Given the description of an element on the screen output the (x, y) to click on. 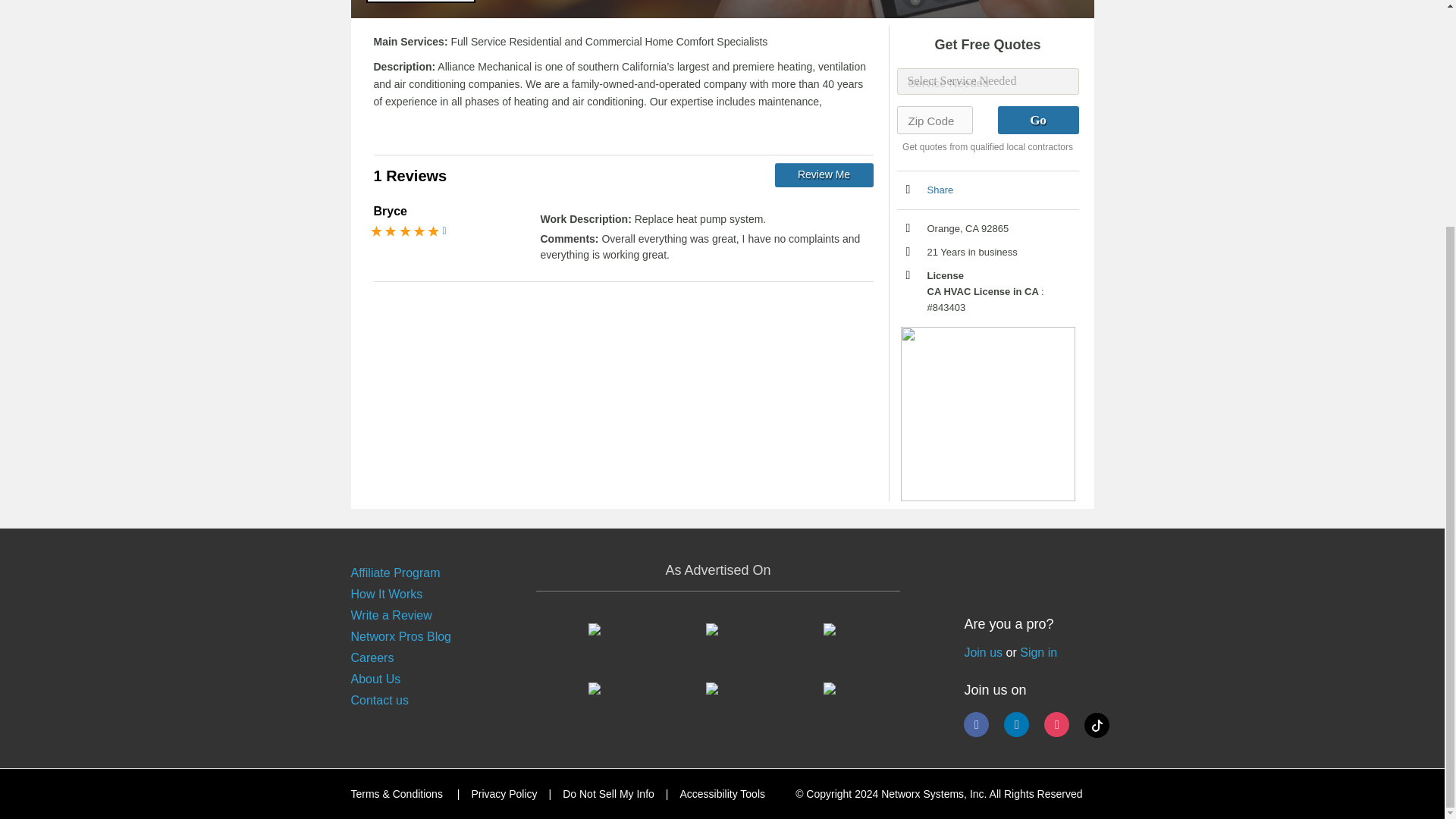
Affiliate Program (394, 572)
Go (1037, 120)
Write a Review (390, 615)
Go (1037, 120)
Review Me (823, 174)
How It Works (386, 594)
